Given the description of an element on the screen output the (x, y) to click on. 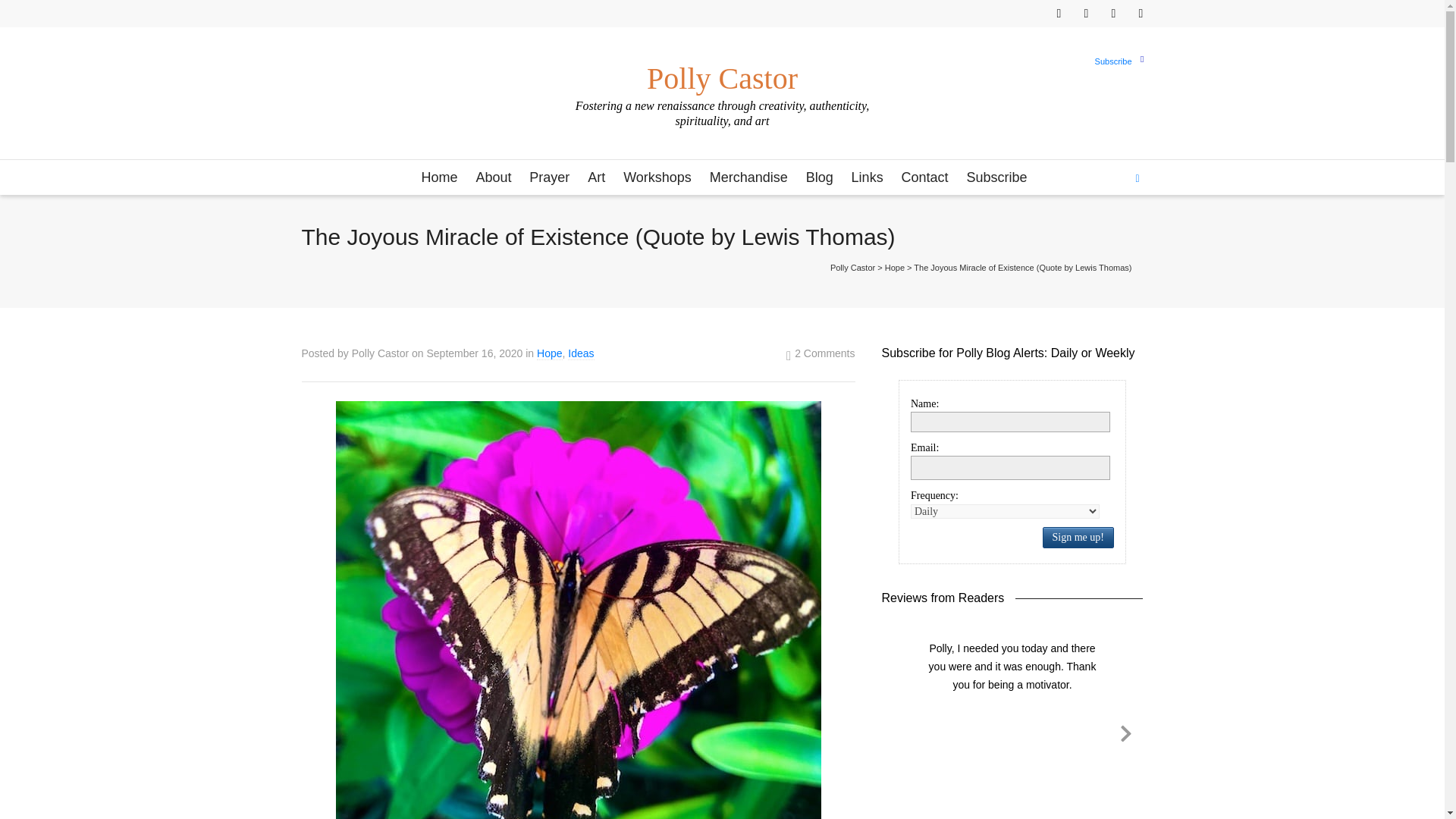
Workshops (657, 178)
Prayer (549, 178)
Go to the Hope Category archives. (894, 266)
Sign me up! (1086, 281)
Go to Polly Castor. (852, 266)
Merchandise (748, 178)
Home (438, 178)
About (493, 178)
Sign me up! (1077, 537)
Subscribe (1113, 61)
Polly Castor (721, 71)
